Given the description of an element on the screen output the (x, y) to click on. 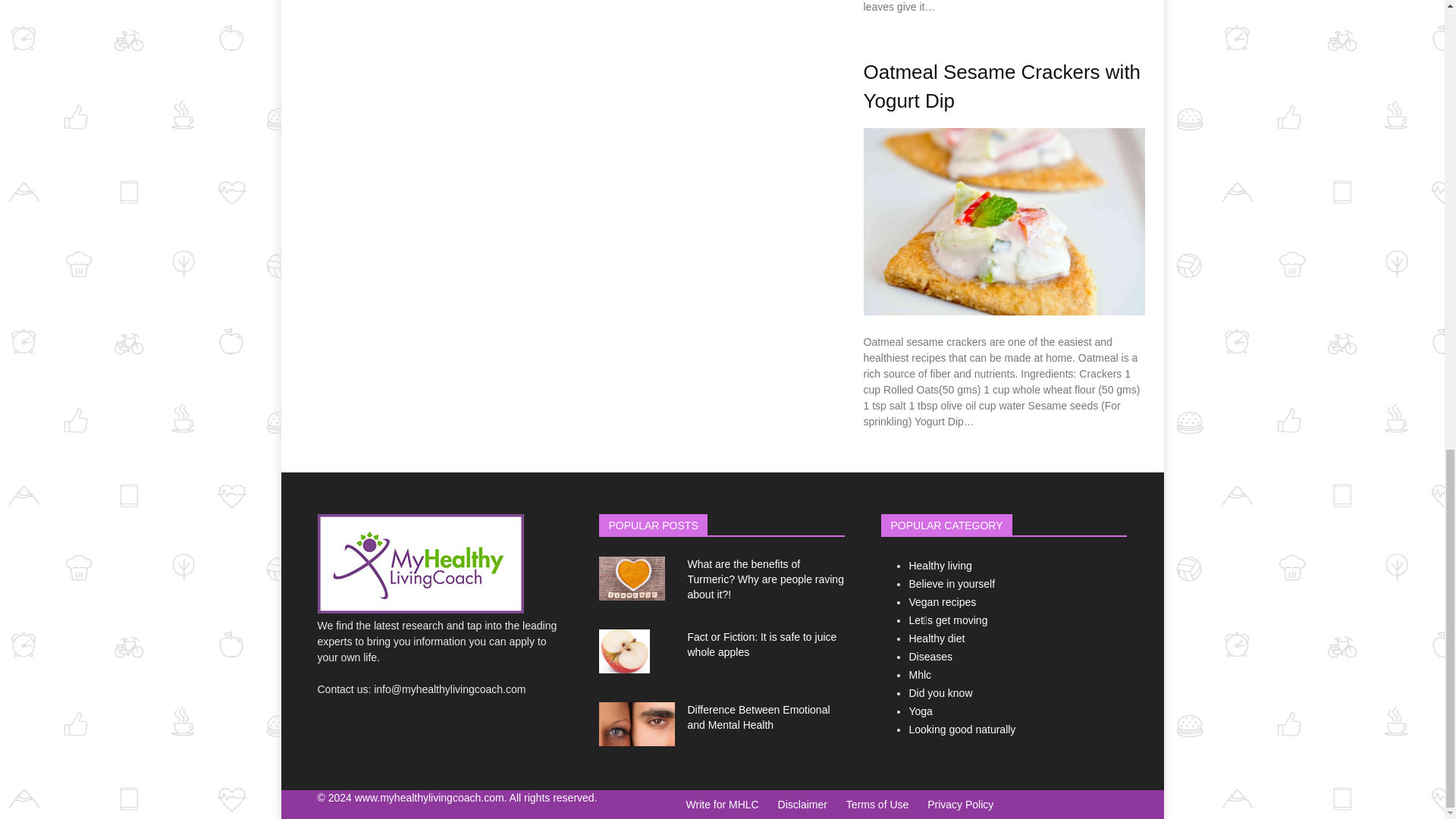
Fact or Fiction: It is safe to juice whole apples (761, 644)
Difference Between Emotional and Mental Health (758, 717)
Oatmeal Sesame Crackers with Yogurt Dip (1001, 86)
